Given the description of an element on the screen output the (x, y) to click on. 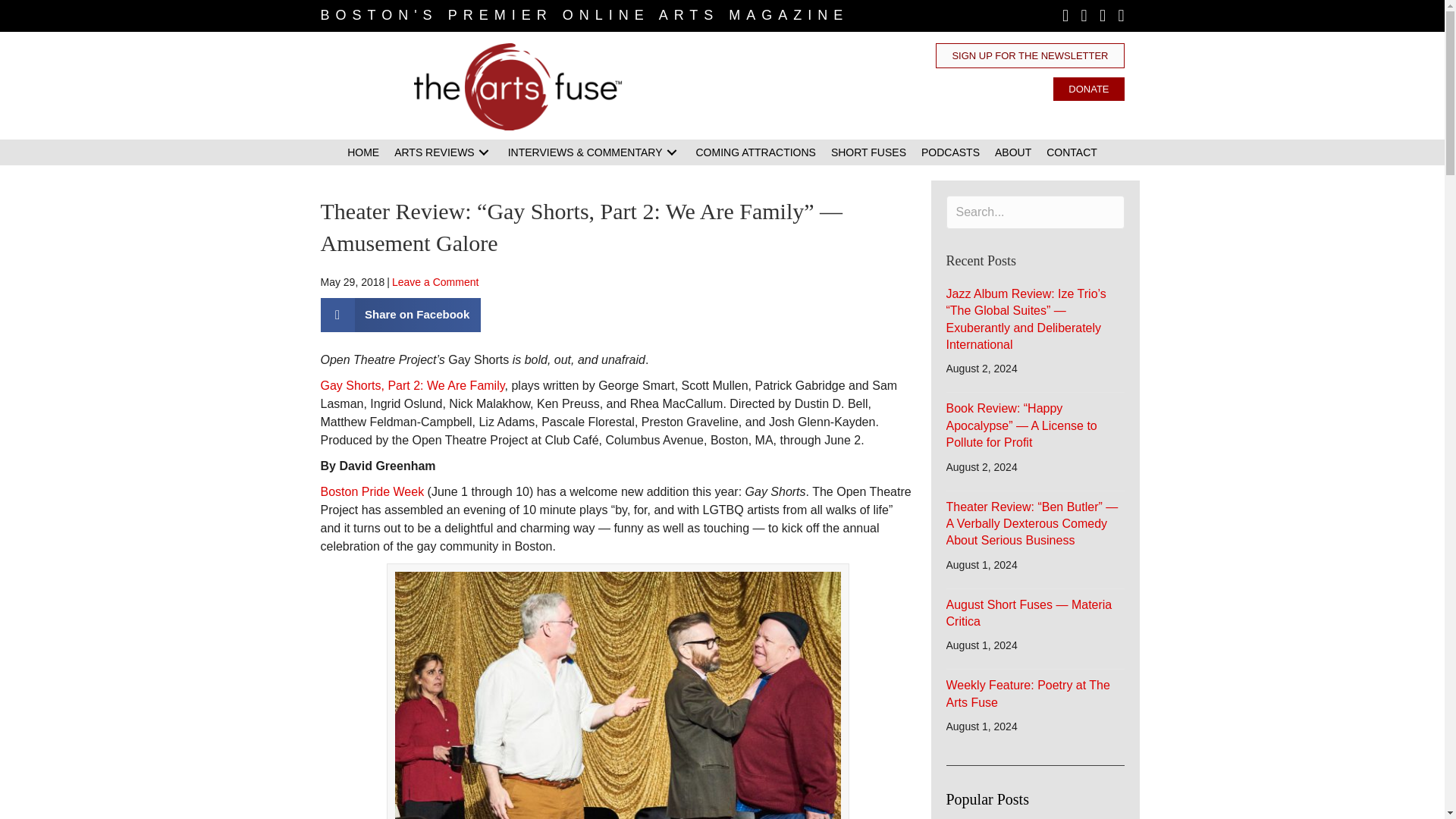
Boston Pride Week (371, 491)
SIGN UP FOR THE NEWSLETTER (1030, 55)
CONTACT (1072, 152)
HOME (363, 152)
Leave a Comment (435, 282)
DONATE (1088, 88)
Weekly Feature: Poetry at The Arts Fuse (1027, 693)
COMING ATTRACTIONS (756, 152)
The Arts Fuse logo (518, 86)
PODCASTS (950, 152)
